Given the description of an element on the screen output the (x, y) to click on. 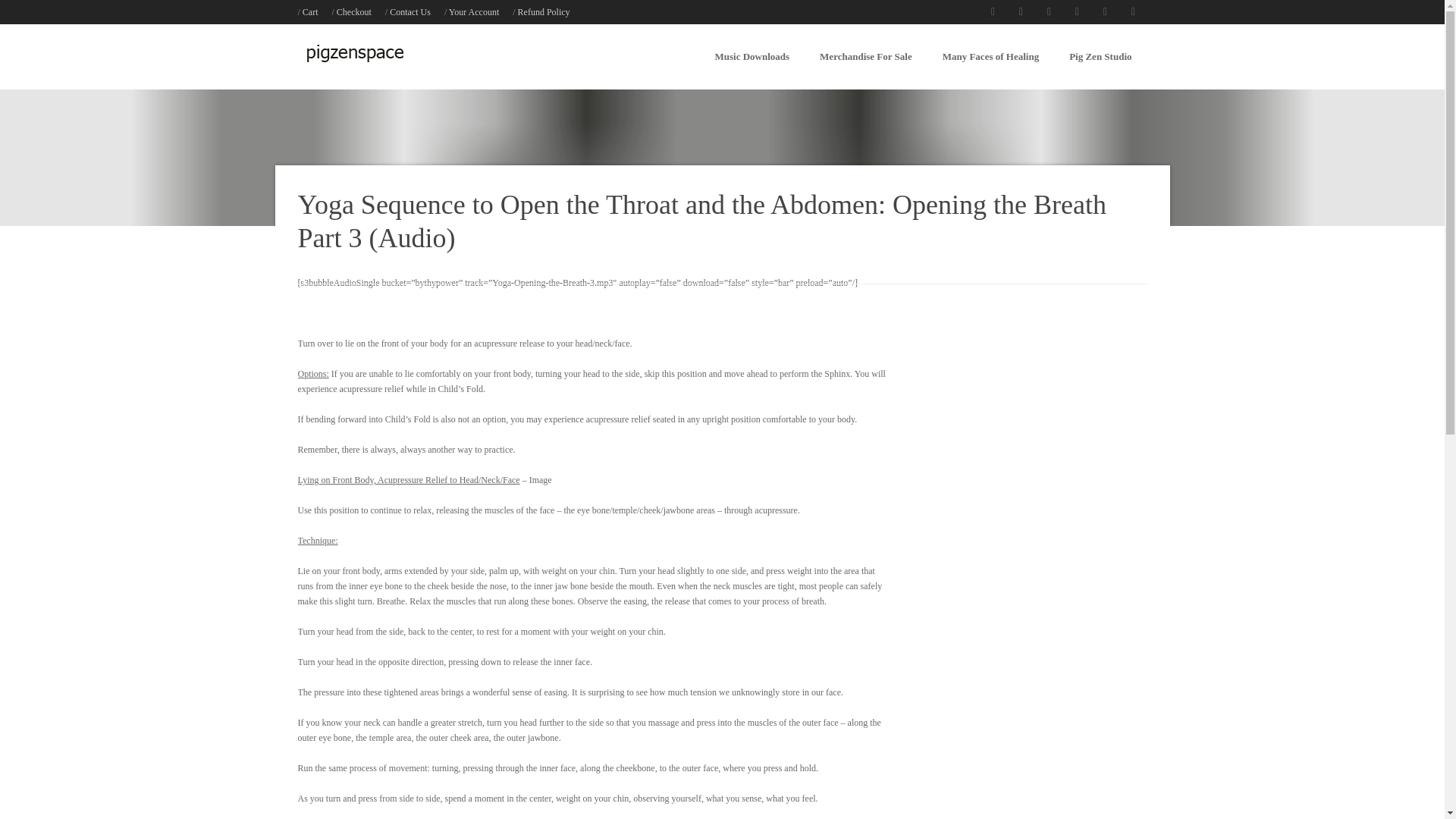
Pig Zen Space (353, 77)
Contact Us (410, 11)
tumblr (1104, 12)
facebook (992, 12)
Your Account (473, 11)
twitter (1020, 12)
Checkout (353, 11)
google-plus (1076, 12)
Refund Policy (544, 11)
Music Downloads (751, 56)
